Given the description of an element on the screen output the (x, y) to click on. 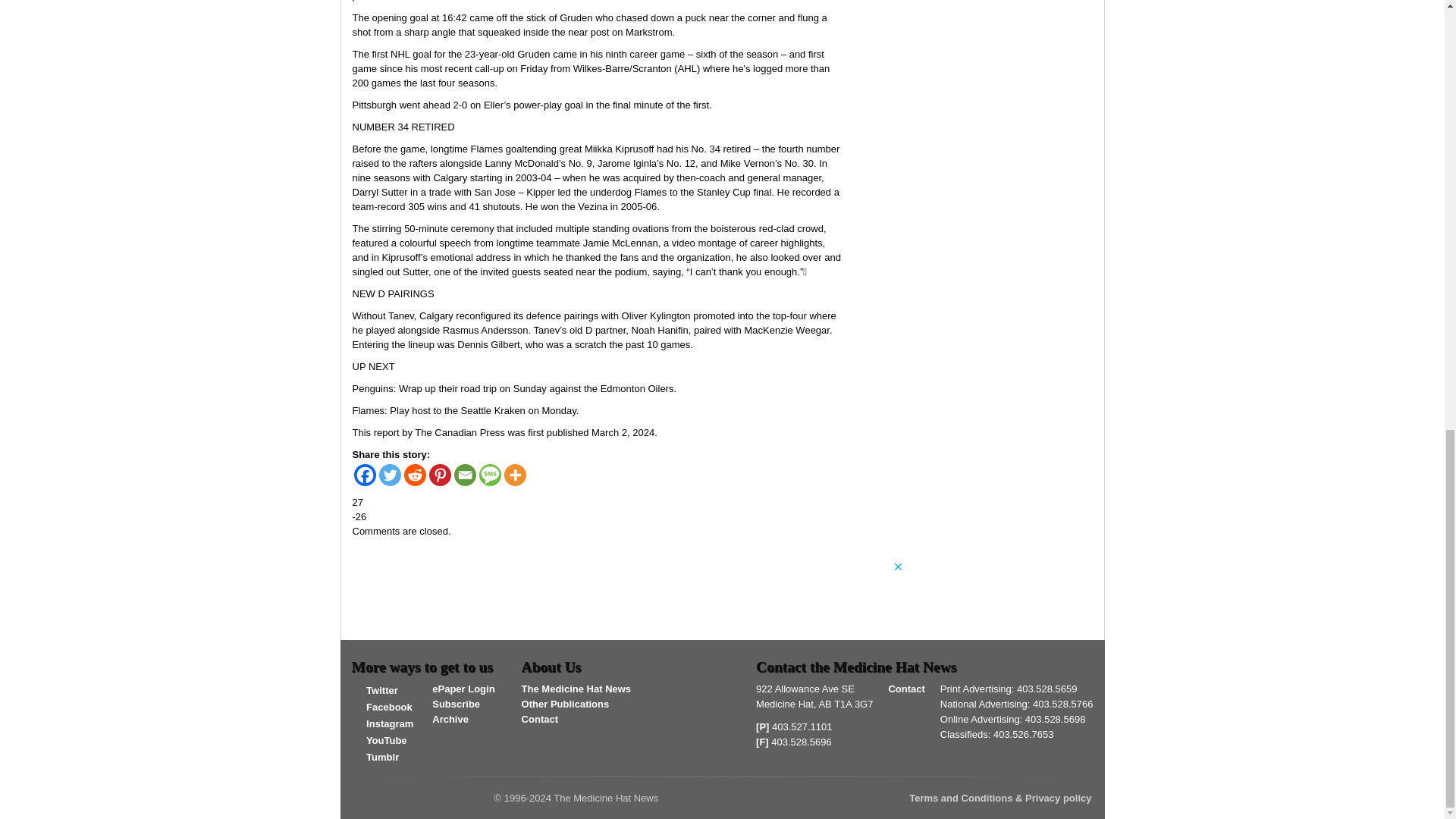
More (514, 475)
Twitter (374, 690)
Twitter (389, 475)
3rd party ad content (628, 594)
Email (464, 475)
Facebook (364, 475)
Reddit (414, 475)
Pinterest (440, 475)
Facebook (382, 706)
SMS (489, 475)
3rd party ad content (978, 79)
